Given the description of an element on the screen output the (x, y) to click on. 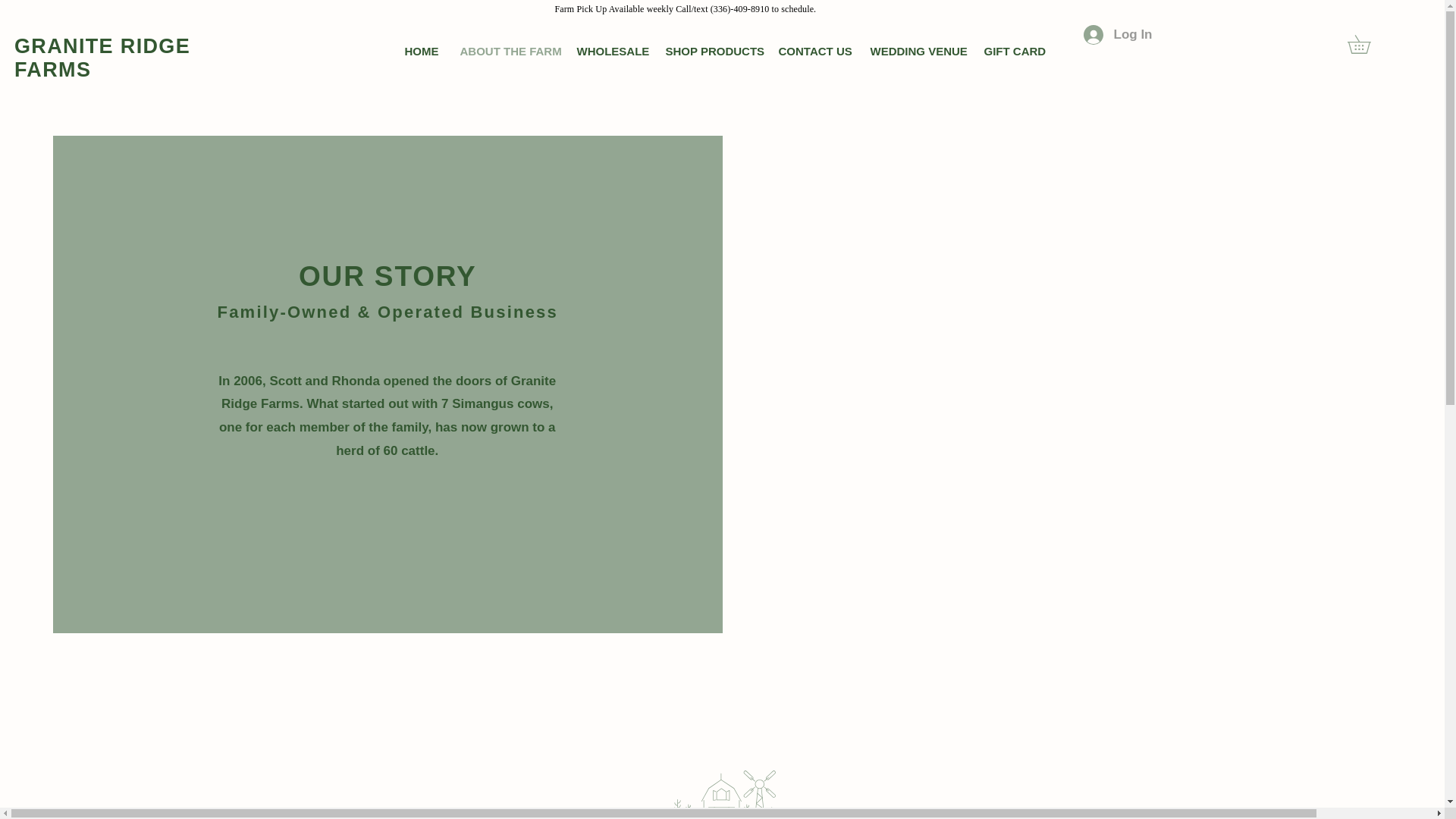
SHOP PRODUCTS (710, 51)
HOME (420, 51)
WHOLESALE (609, 51)
CONTACT US (813, 51)
GRANITE RIDGE FARMS (102, 58)
GIFT CARD (1011, 51)
Log In (1118, 34)
ABOUT THE FARM (507, 51)
WEDDING VENUE (915, 51)
